Given the description of an element on the screen output the (x, y) to click on. 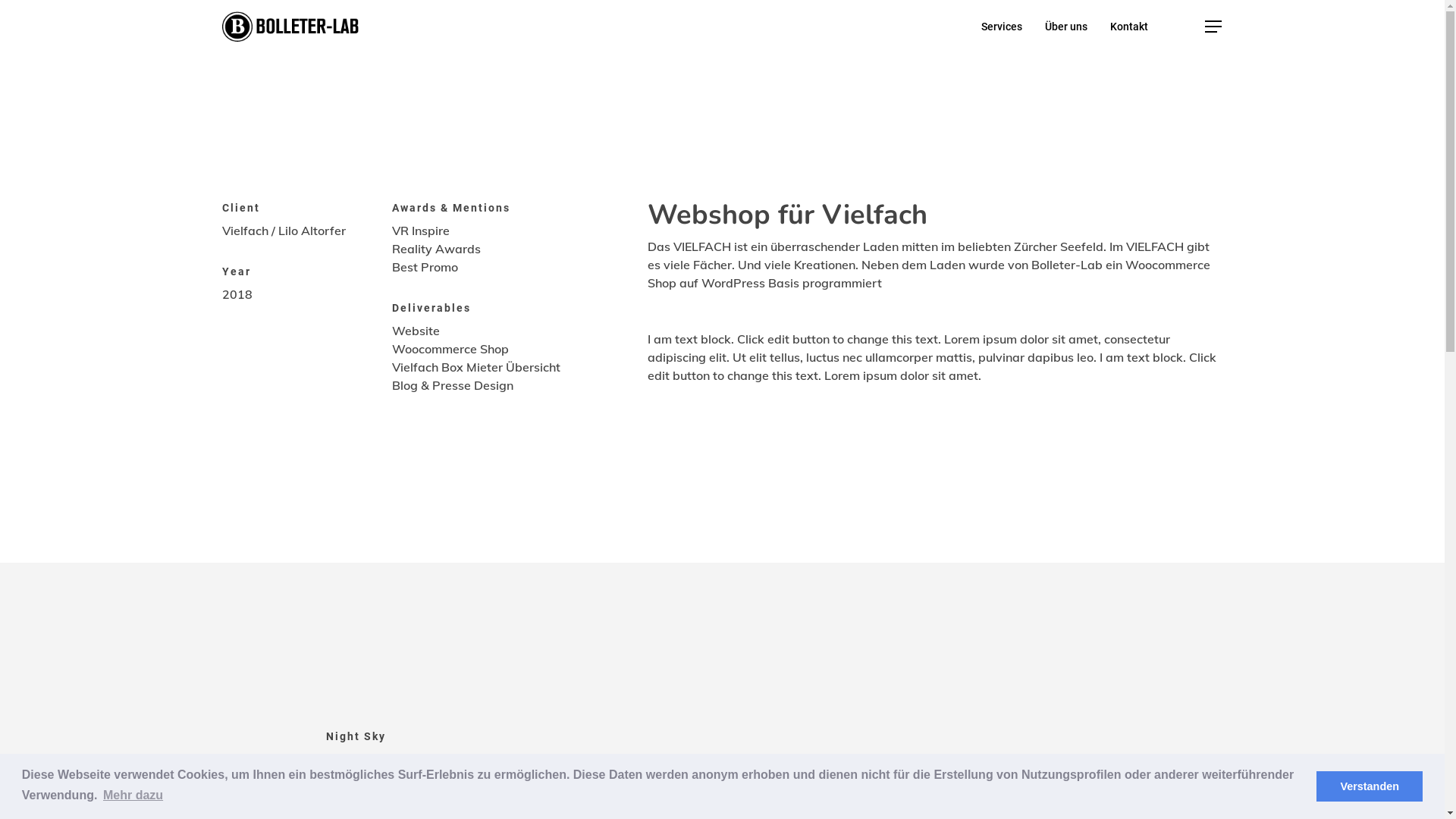
yelp Element type: text (748, 709)
Tarife Element type: text (767, 757)
Disclaimer Element type: text (817, 757)
Mehr dazu Element type: text (133, 795)
Kontakt Element type: text (1129, 26)
AGB's Element type: text (729, 757)
linkedin Element type: text (695, 709)
Verstanden Element type: text (1369, 786)
Services Element type: text (1001, 26)
Menu Element type: text (1213, 26)
